Given the description of an element on the screen output the (x, y) to click on. 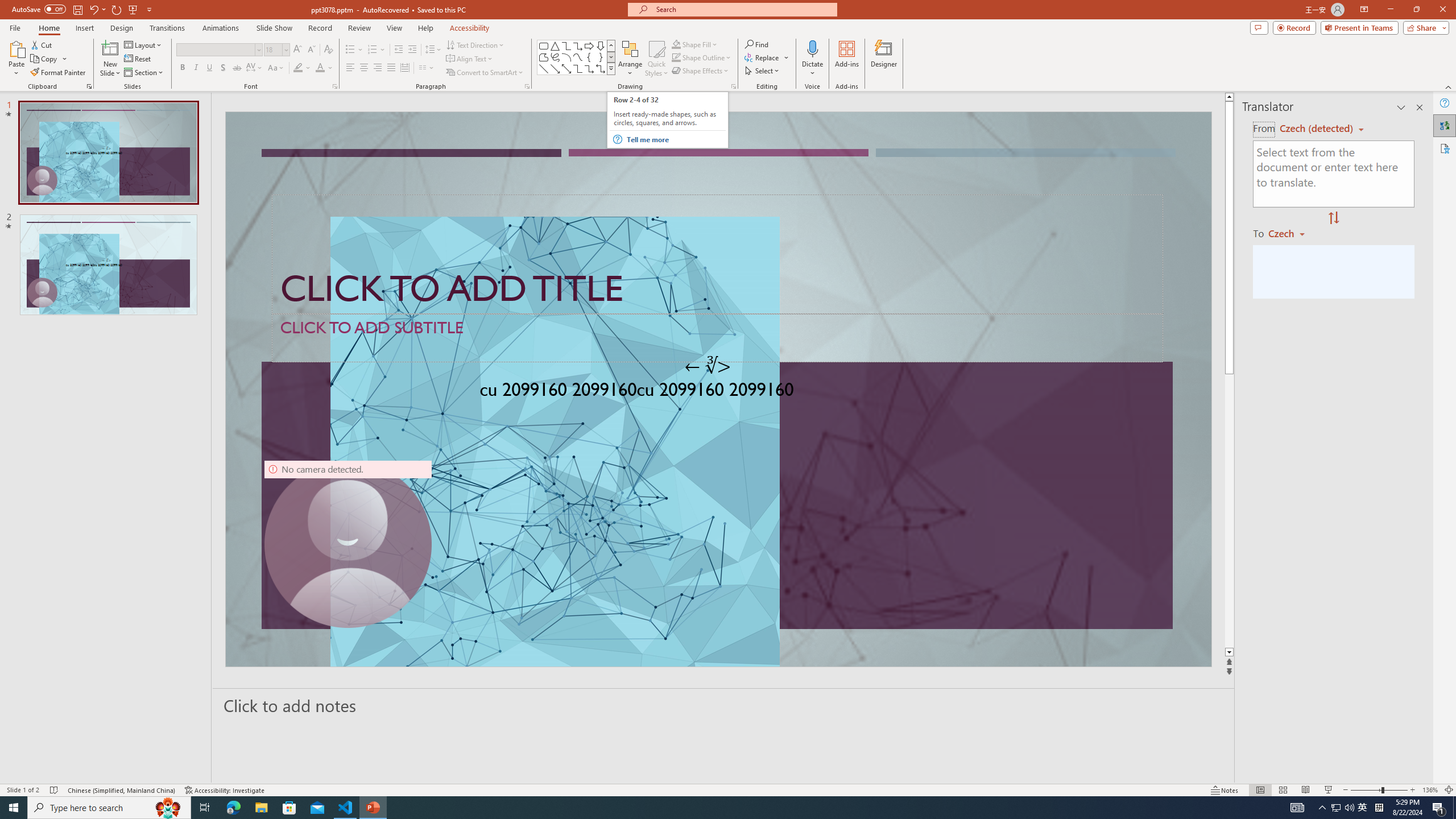
Shape Outline (701, 56)
Increase Font Size (297, 49)
Connector: Elbow Double-Arrow (600, 68)
Align Right (377, 67)
Columns (426, 67)
Convert to SmartArt (485, 72)
Connector: Elbow Arrow (589, 68)
Shadow (223, 67)
Page down (1229, 511)
